Given the description of an element on the screen output the (x, y) to click on. 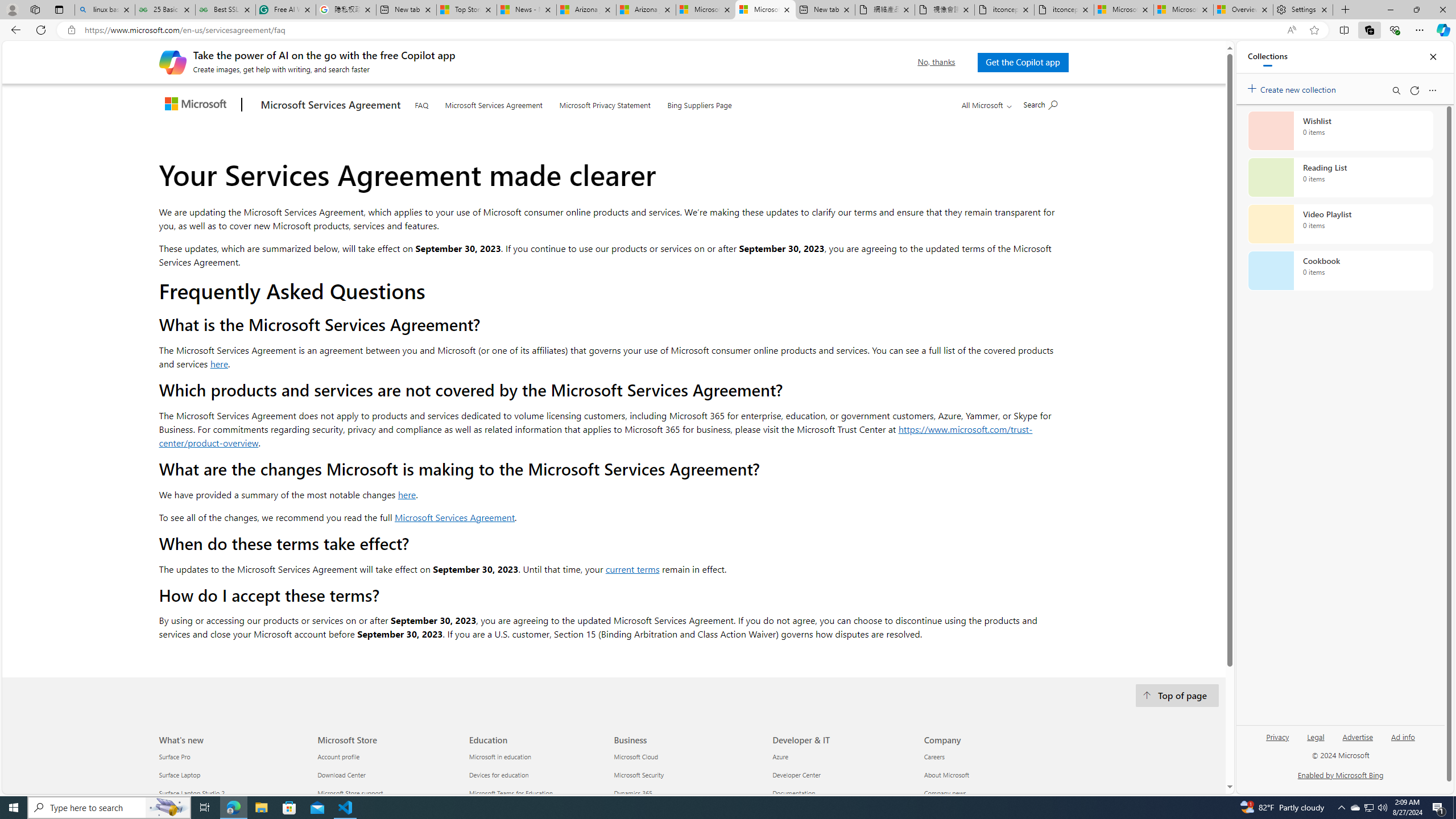
Documentation (840, 793)
News - MSN (527, 9)
Surface Laptop Studio 2 What's new (191, 792)
current terms (632, 568)
Devices for education (537, 774)
Reading List collection, 0 items (1339, 177)
Documentation Developer & IT (793, 792)
Microsoft Teams for Education Education (510, 792)
Azure Developer & IT (779, 756)
Get the Copilot app  (1022, 62)
Microsoft Privacy Statement (604, 103)
https://www.microsoft.com/trust-center/product-overview (595, 435)
